Given the description of an element on the screen output the (x, y) to click on. 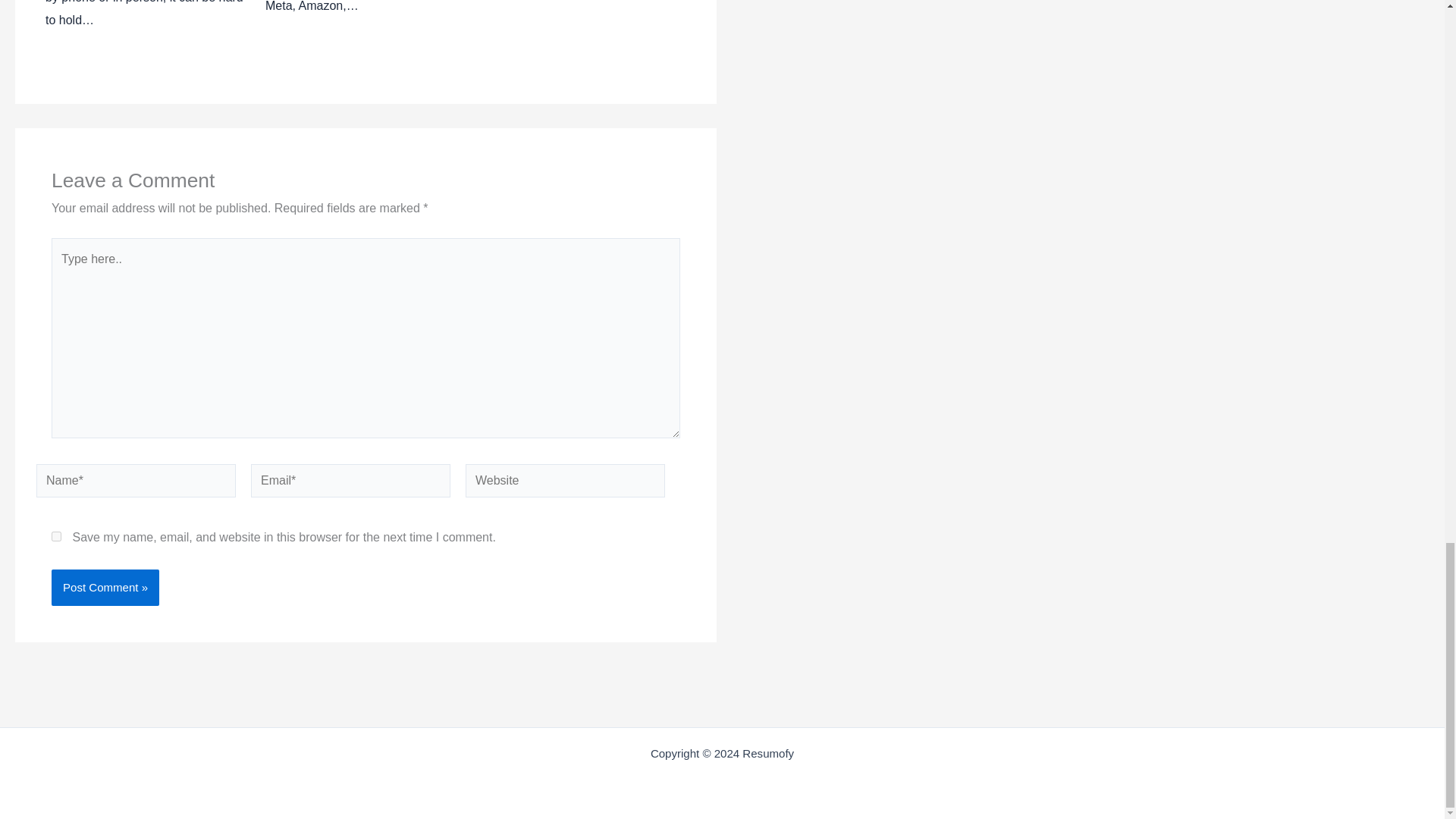
yes (55, 536)
